Given the description of an element on the screen output the (x, y) to click on. 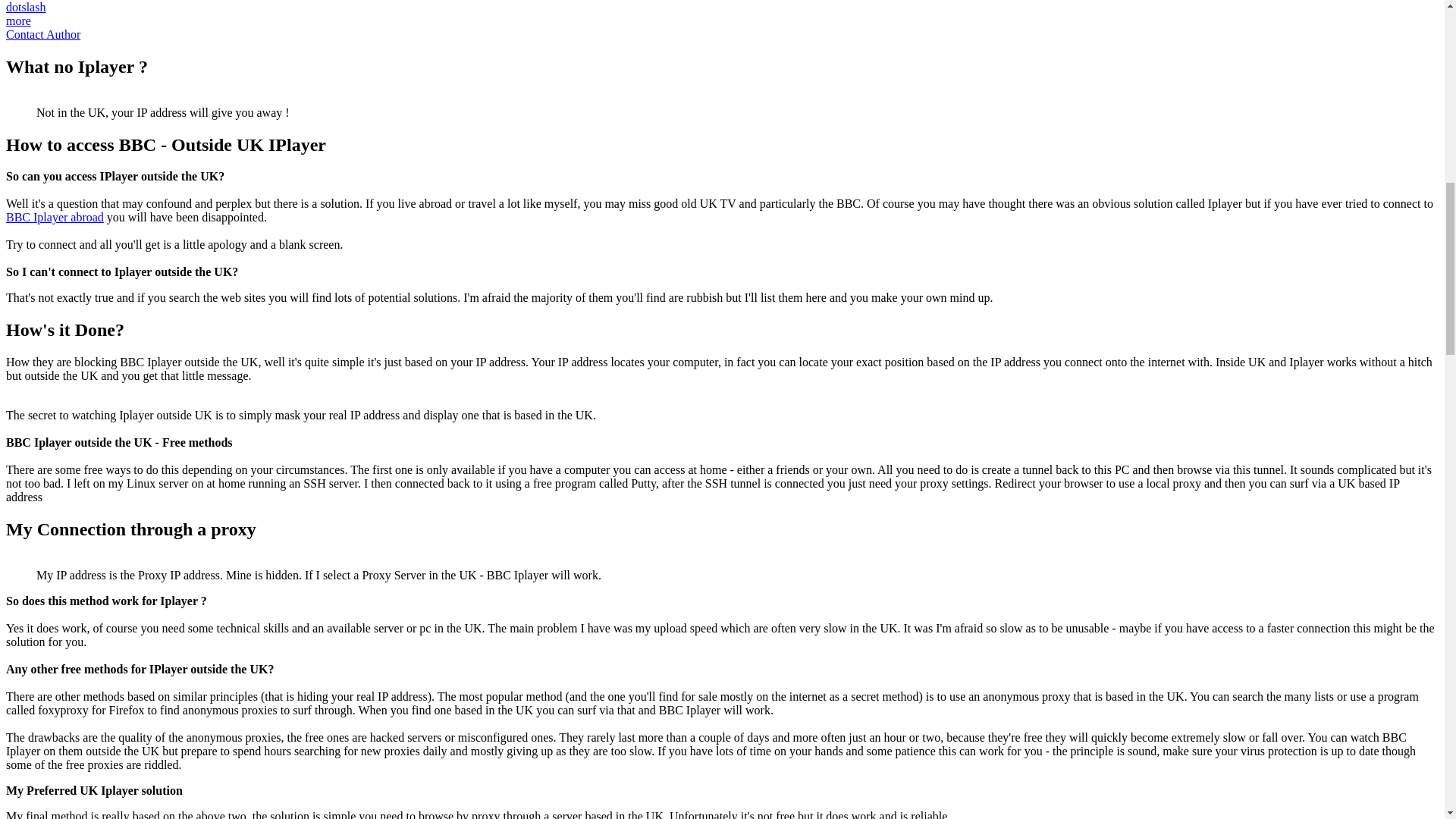
BBC Iplayer abroad (54, 216)
Contact Author (42, 33)
